Given the description of an element on the screen output the (x, y) to click on. 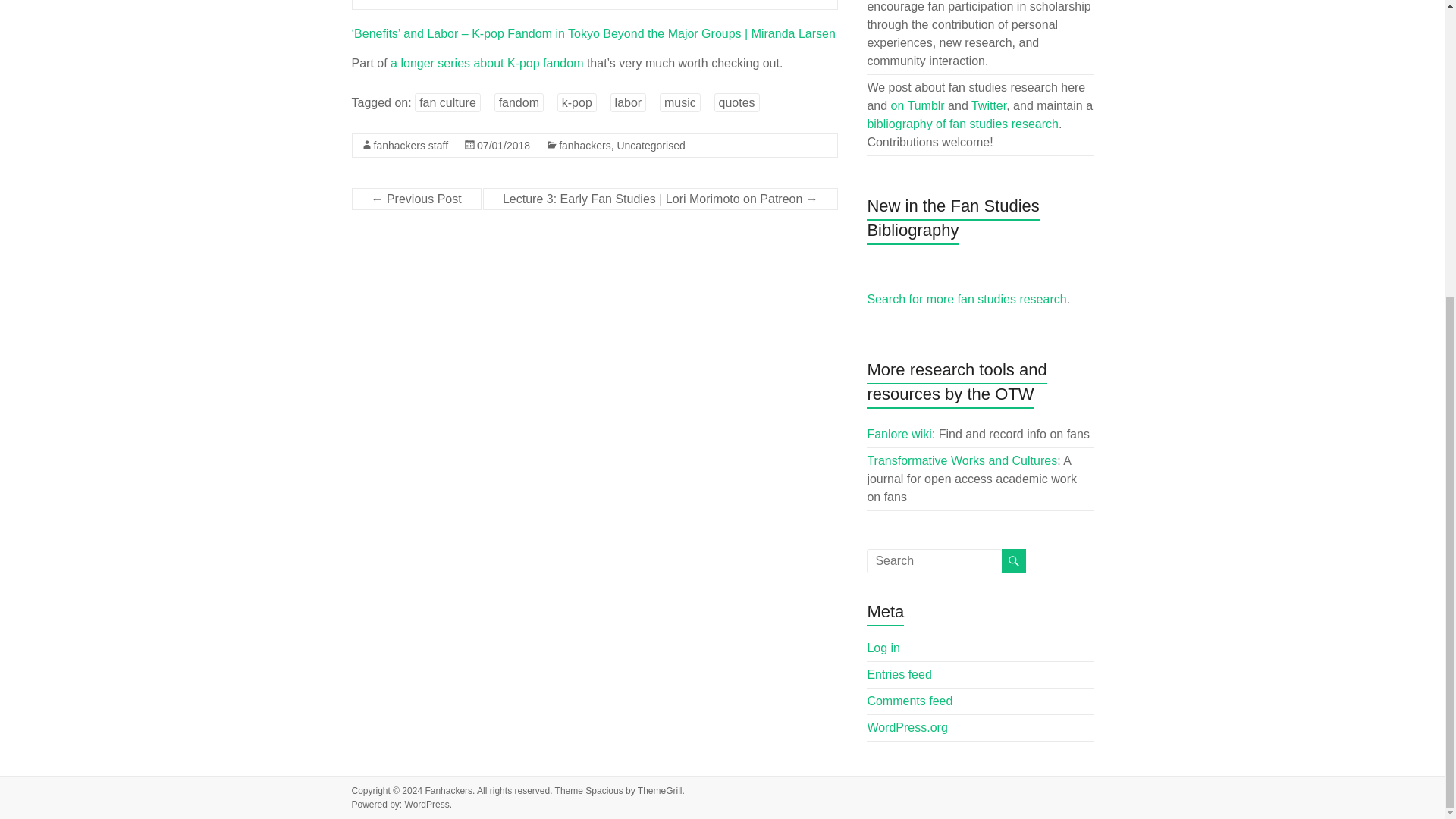
Search for more fan studies research (965, 298)
labor (628, 102)
Fanhackers (448, 790)
Entries feed (898, 674)
fanhackers (584, 145)
Spacious (604, 790)
k-pop (576, 102)
WordPress (426, 804)
Log in (882, 647)
a longer series about K-pop fandom (486, 62)
fan culture (447, 102)
Twitter (988, 105)
fanhackers staff (410, 145)
Fanlore wiki: (900, 433)
Uncategorised (649, 145)
